Given the description of an element on the screen output the (x, y) to click on. 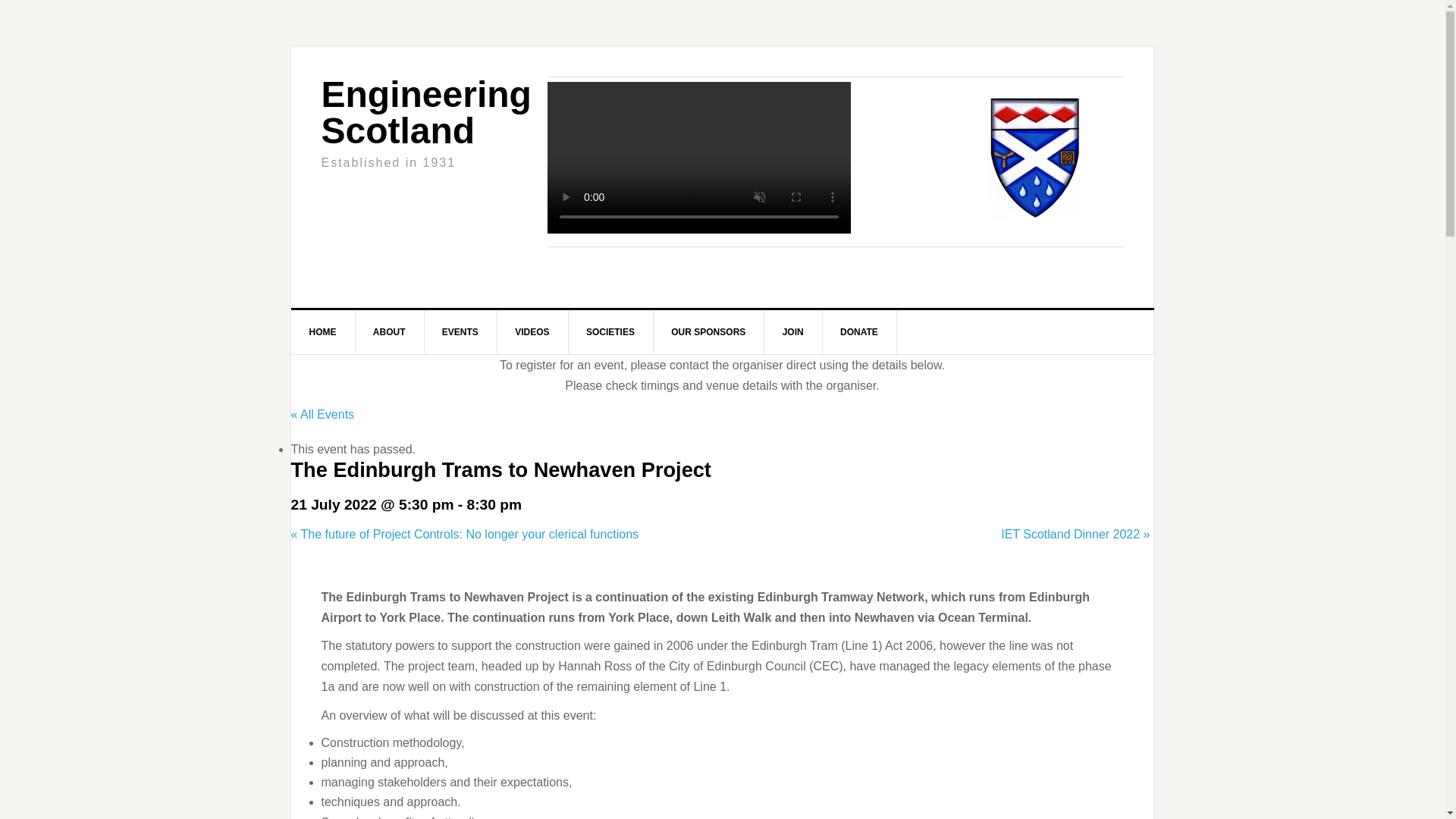
SOCIETIES (610, 331)
EVENTS (460, 331)
VIDEOS (531, 331)
JOIN (793, 331)
OUR SPONSORS (708, 331)
DONATE (859, 331)
ABOUT (390, 331)
HOME (323, 331)
Engineering Scotland (426, 112)
